Given the description of an element on the screen output the (x, y) to click on. 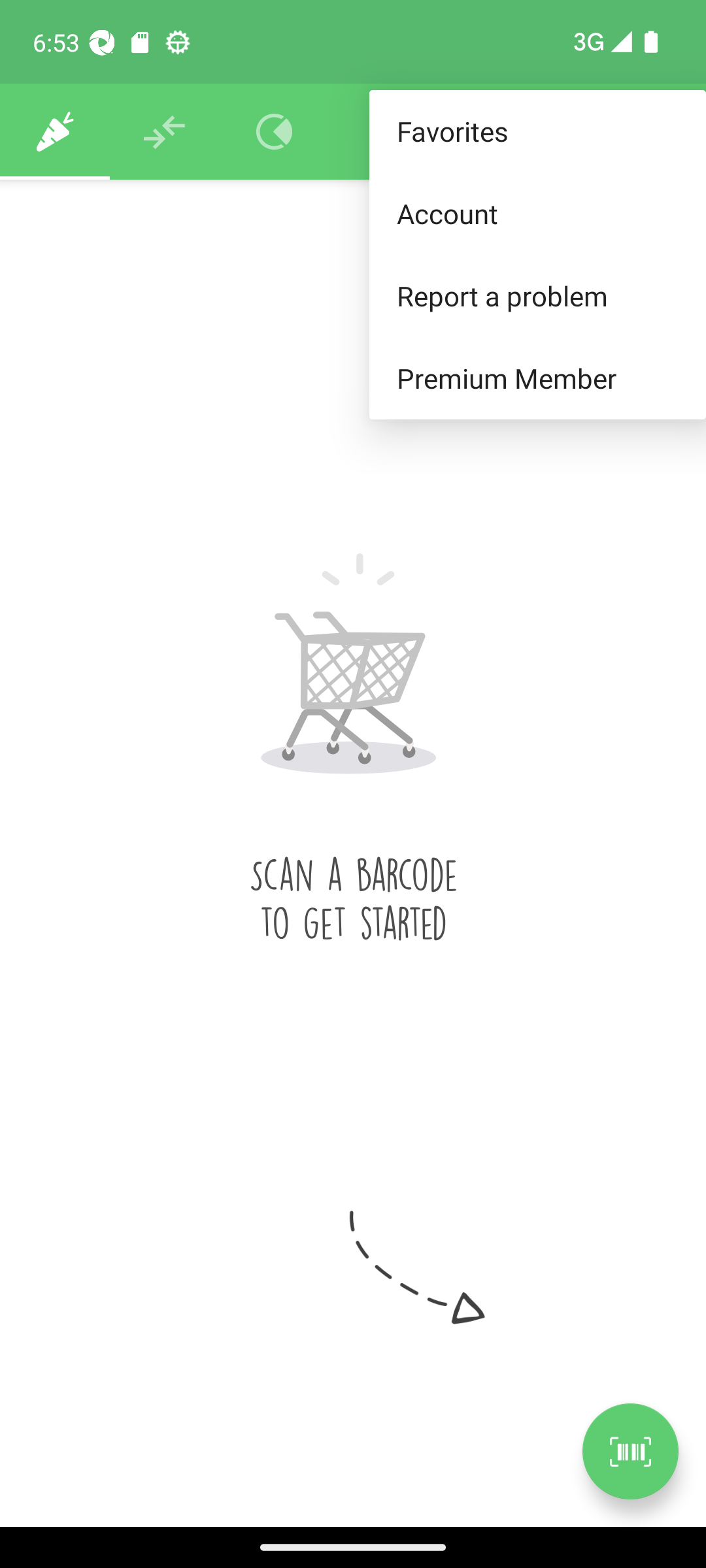
Favorites (537, 131)
Account (537, 213)
Report a problem (537, 295)
Premium Member (537, 378)
